Given the description of an element on the screen output the (x, y) to click on. 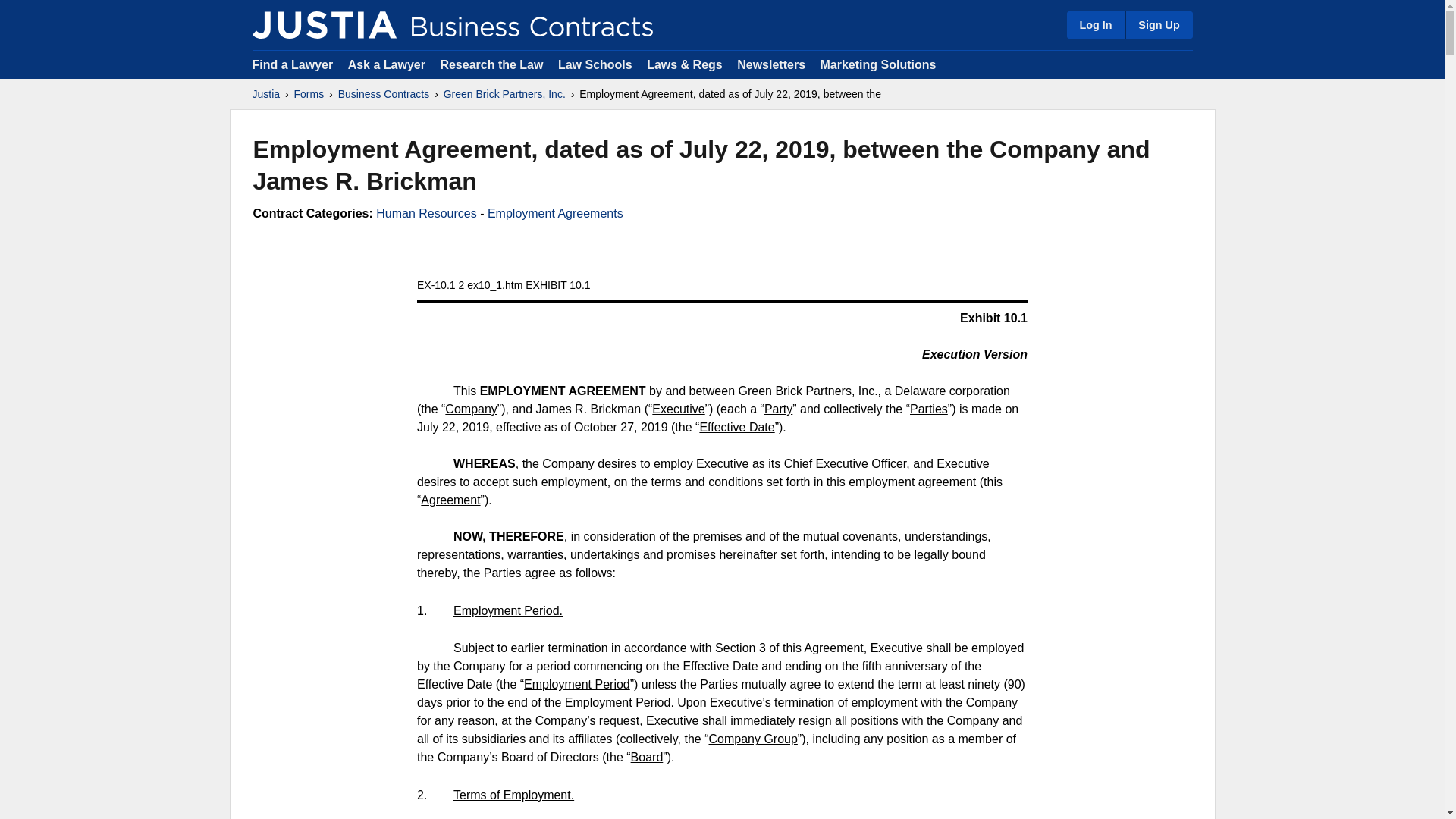
Business Contracts (383, 93)
Research the Law (491, 64)
Justia (265, 93)
Employment Agreements (555, 213)
Human Resources (426, 213)
Find a Lawyer (292, 64)
Newsletters (770, 64)
Marketing Solutions (877, 64)
Justia (323, 24)
Green Brick Partners, Inc. (505, 93)
Law Schools (594, 64)
Log In (1094, 24)
Ask a Lawyer (388, 64)
Forms (309, 93)
Sign Up (1158, 24)
